Given the description of an element on the screen output the (x, y) to click on. 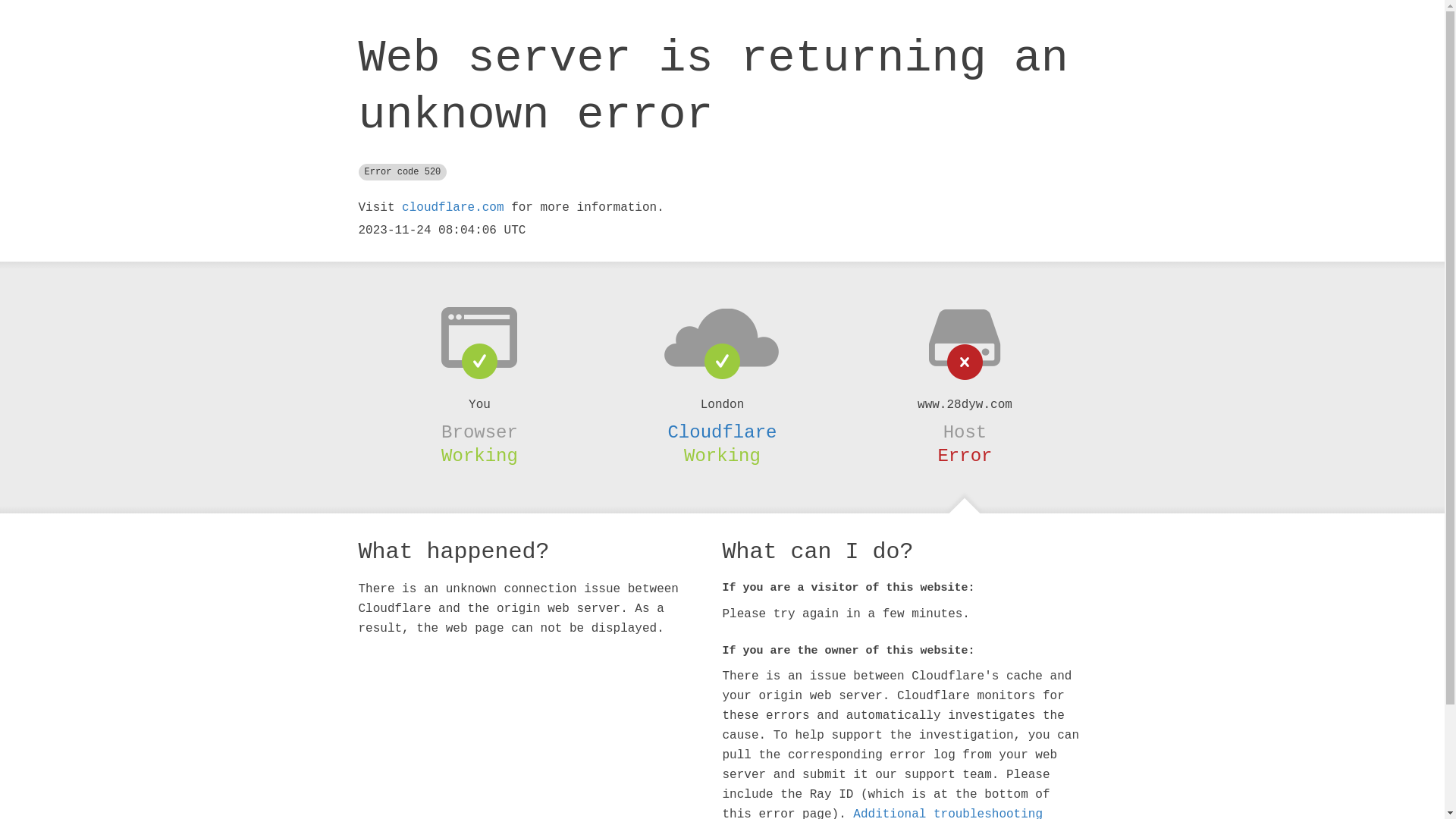
Cloudflare Element type: text (721, 432)
cloudflare.com Element type: text (452, 207)
